Given the description of an element on the screen output the (x, y) to click on. 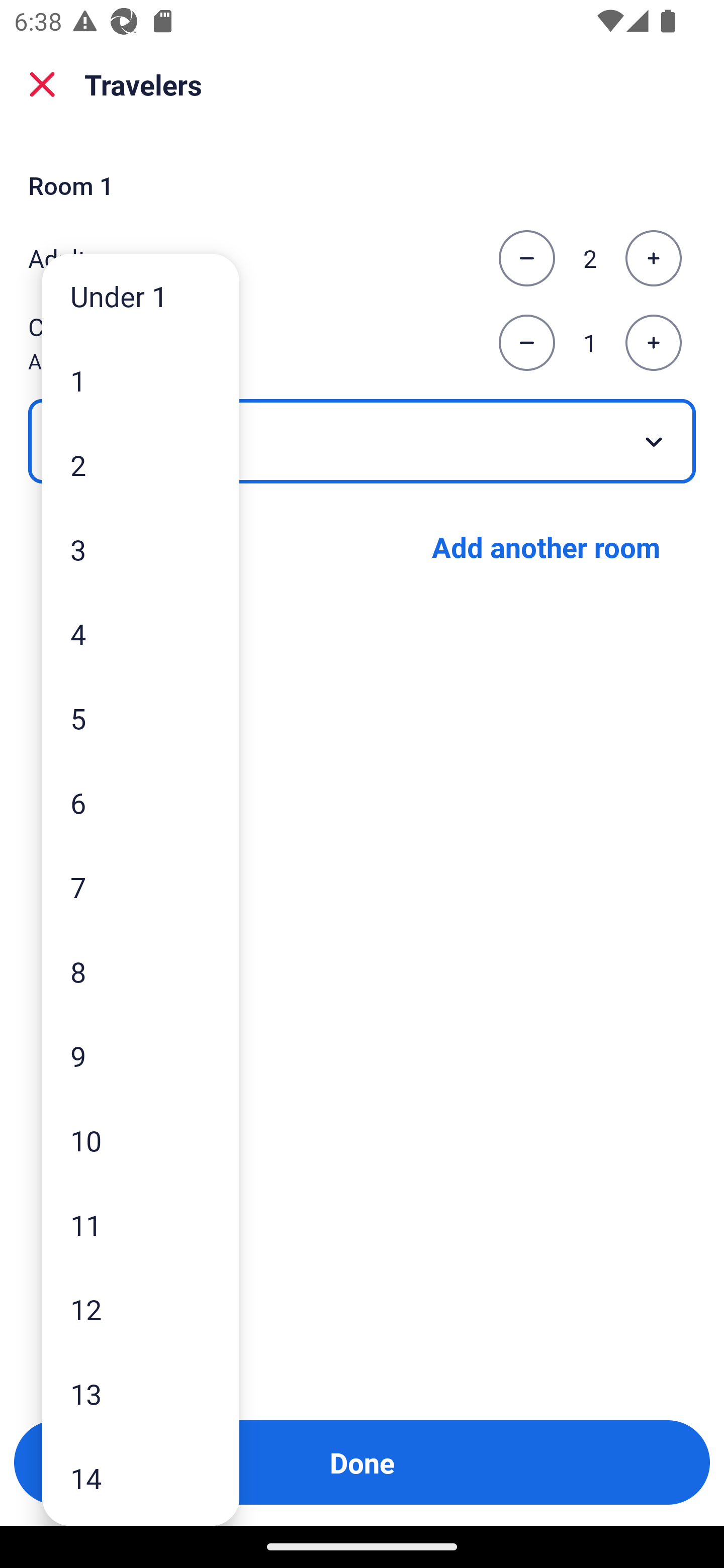
Under 1 (140, 296)
1 (140, 380)
2 (140, 464)
3 (140, 548)
4 (140, 633)
5 (140, 717)
6 (140, 802)
7 (140, 887)
8 (140, 970)
9 (140, 1054)
10 (140, 1139)
11 (140, 1224)
12 (140, 1308)
13 (140, 1393)
14 (140, 1478)
